Given the description of an element on the screen output the (x, y) to click on. 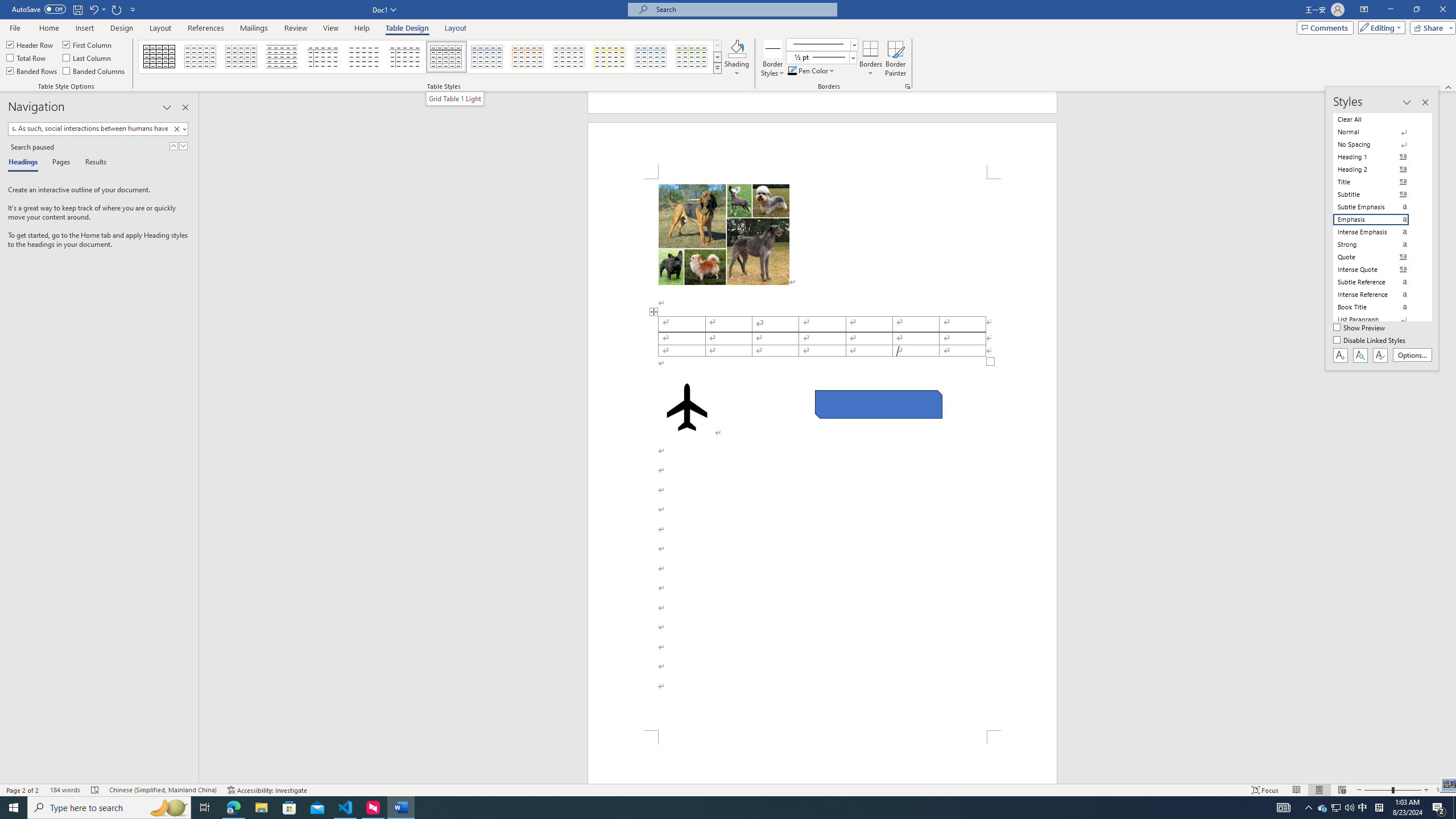
Intense Reference (1377, 294)
Emphasis (1377, 219)
Title (1377, 182)
Editing (1379, 27)
Repeat Style (117, 9)
Borders and Shading... (907, 85)
Pen Color RGB(0, 0, 0) (791, 69)
Clear (178, 128)
